Given the description of an element on the screen output the (x, y) to click on. 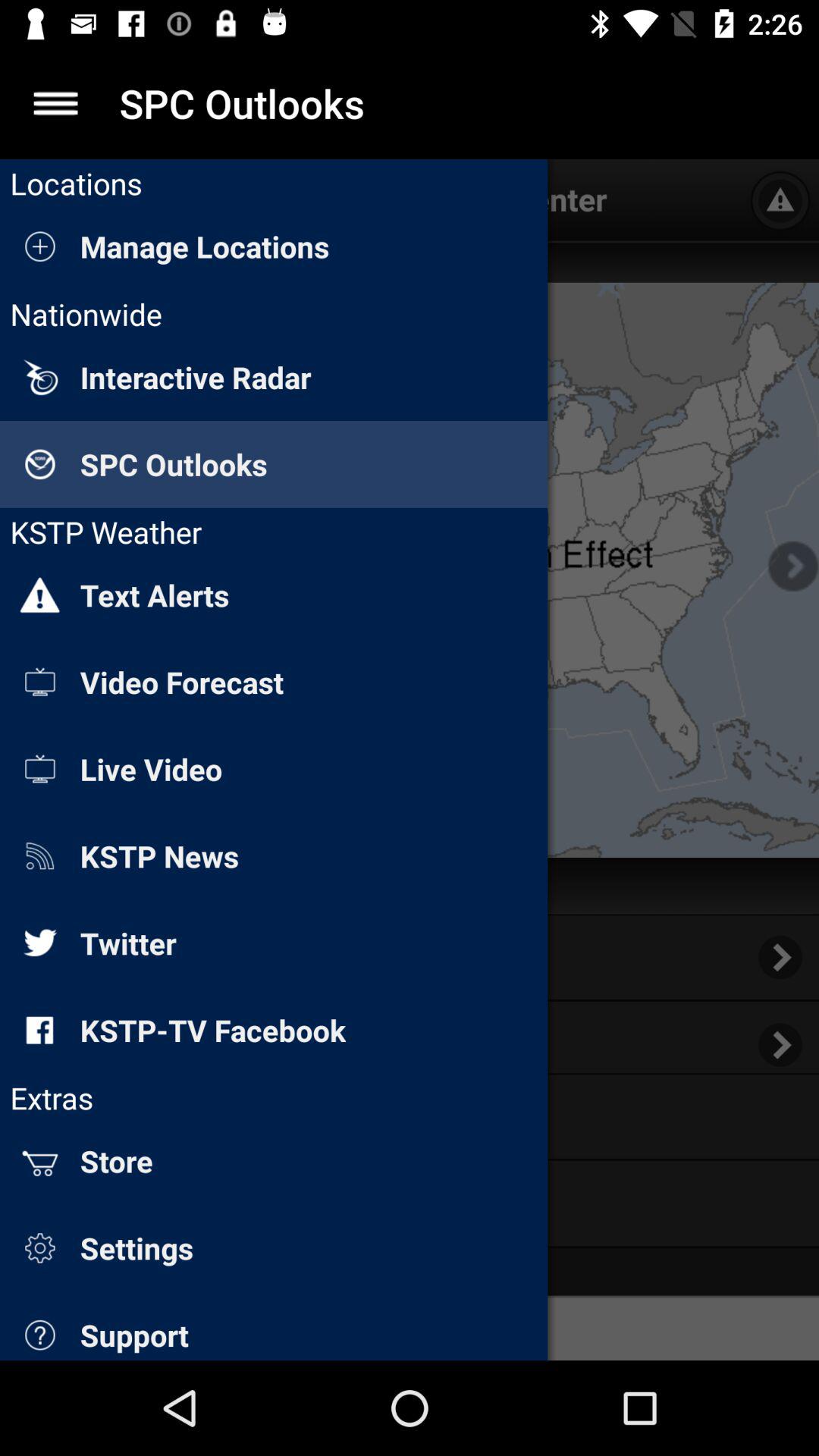
menu collapse option (55, 103)
